Given the description of an element on the screen output the (x, y) to click on. 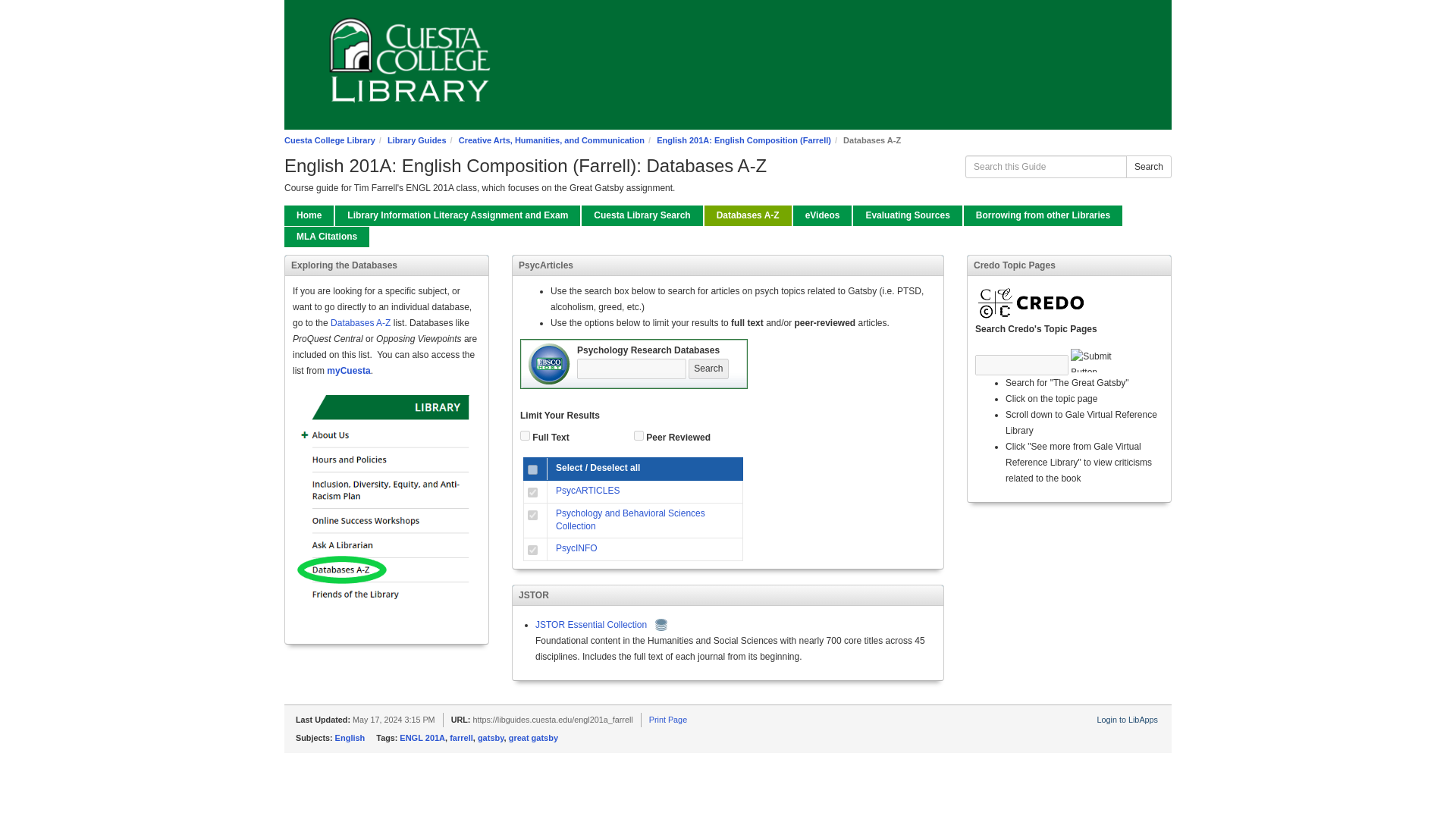
Login to LibApps (1127, 718)
JSTOR Essential Collection (590, 624)
Borrowing from other Libraries (1042, 215)
Library Guides (416, 139)
Psychology and Behavioral Sciences Collection (630, 519)
PsycARTICLES (588, 490)
Databases A-Z (361, 322)
pdh (532, 492)
Creative Arts, Humanities, and Communication (551, 139)
Search (1148, 166)
myCuesta (347, 370)
Cuesta College Library (329, 139)
Databases A-Z (748, 215)
on (638, 435)
gatsby (490, 737)
